Given the description of an element on the screen output the (x, y) to click on. 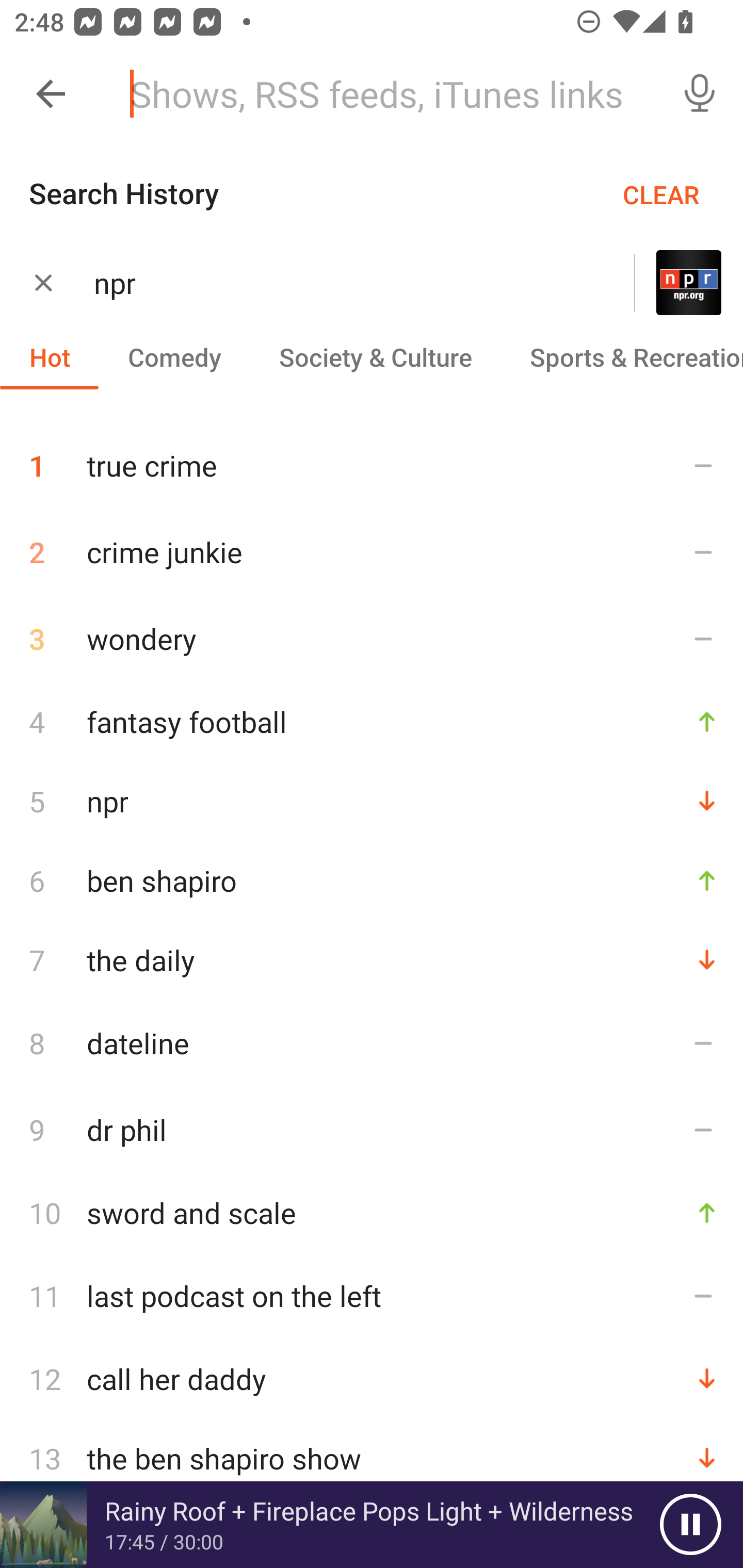
Collapse (50, 93)
Voice Search (699, 93)
Shows, RSS feeds, iTunes links (385, 94)
CLEAR (660, 194)
npr (338, 282)
 Clear (43, 282)
Hot (49, 356)
Comedy (173, 356)
Society & Culture (374, 356)
Sports & Recreation (621, 356)
1 true crime (371, 457)
2 crime junkie (371, 551)
3 wondery (371, 638)
4 fantasy football (371, 722)
5 npr (371, 801)
6 ben shapiro (371, 880)
7 the daily (371, 960)
8 dateline (371, 1043)
9 dr phil (371, 1129)
10 sword and scale (371, 1212)
11 last podcast on the left (371, 1295)
12 call her daddy (371, 1379)
13 the ben shapiro show (371, 1458)
Pause (690, 1524)
